Given the description of an element on the screen output the (x, y) to click on. 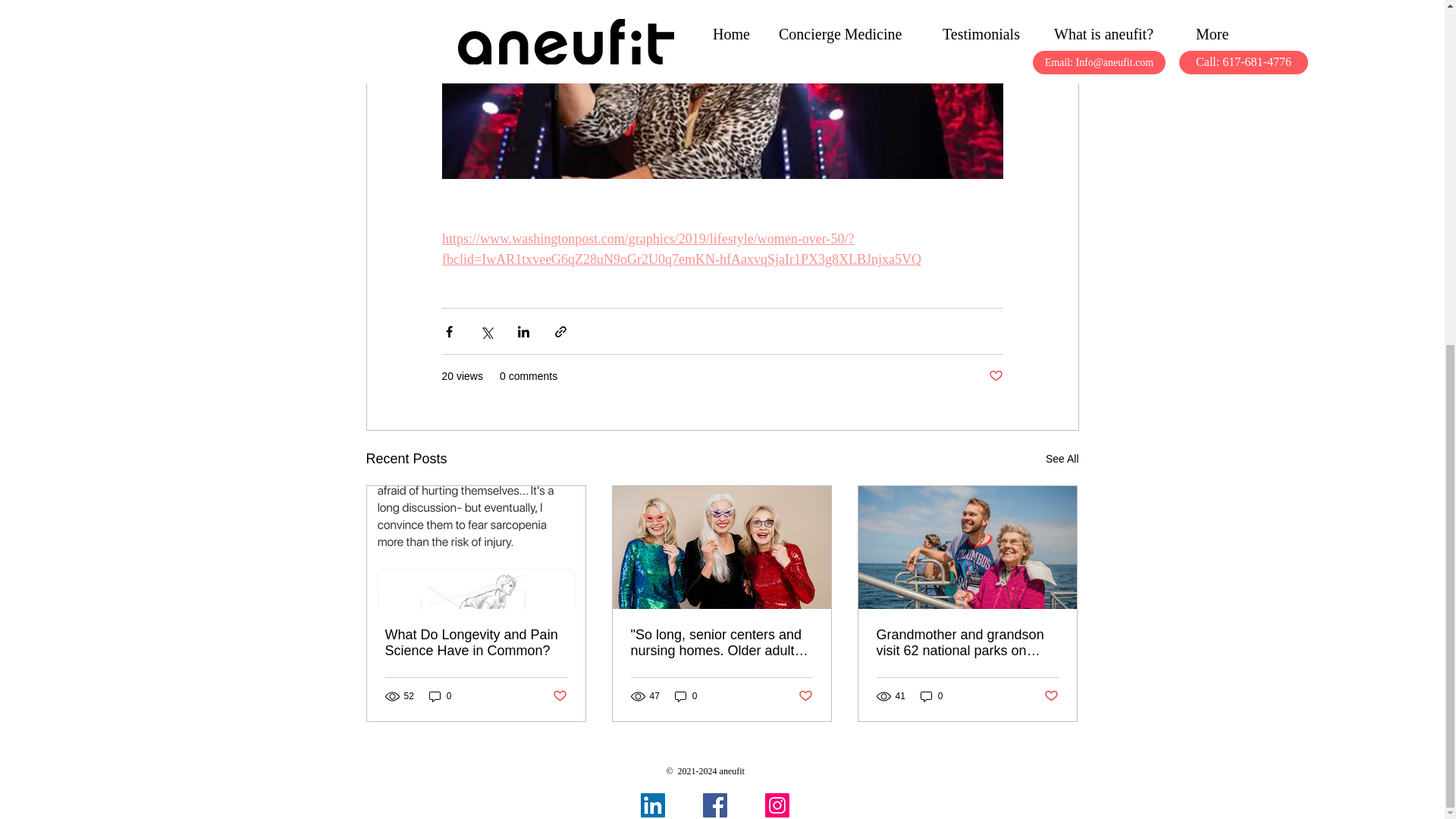
0 (931, 696)
0 (440, 696)
Post not marked as liked (804, 696)
See All (1061, 458)
Post not marked as liked (558, 696)
0 (685, 696)
What Do Longevity and Pain Science Have in Common? (476, 643)
Post not marked as liked (1050, 696)
Post not marked as liked (995, 376)
